Given the description of an element on the screen output the (x, y) to click on. 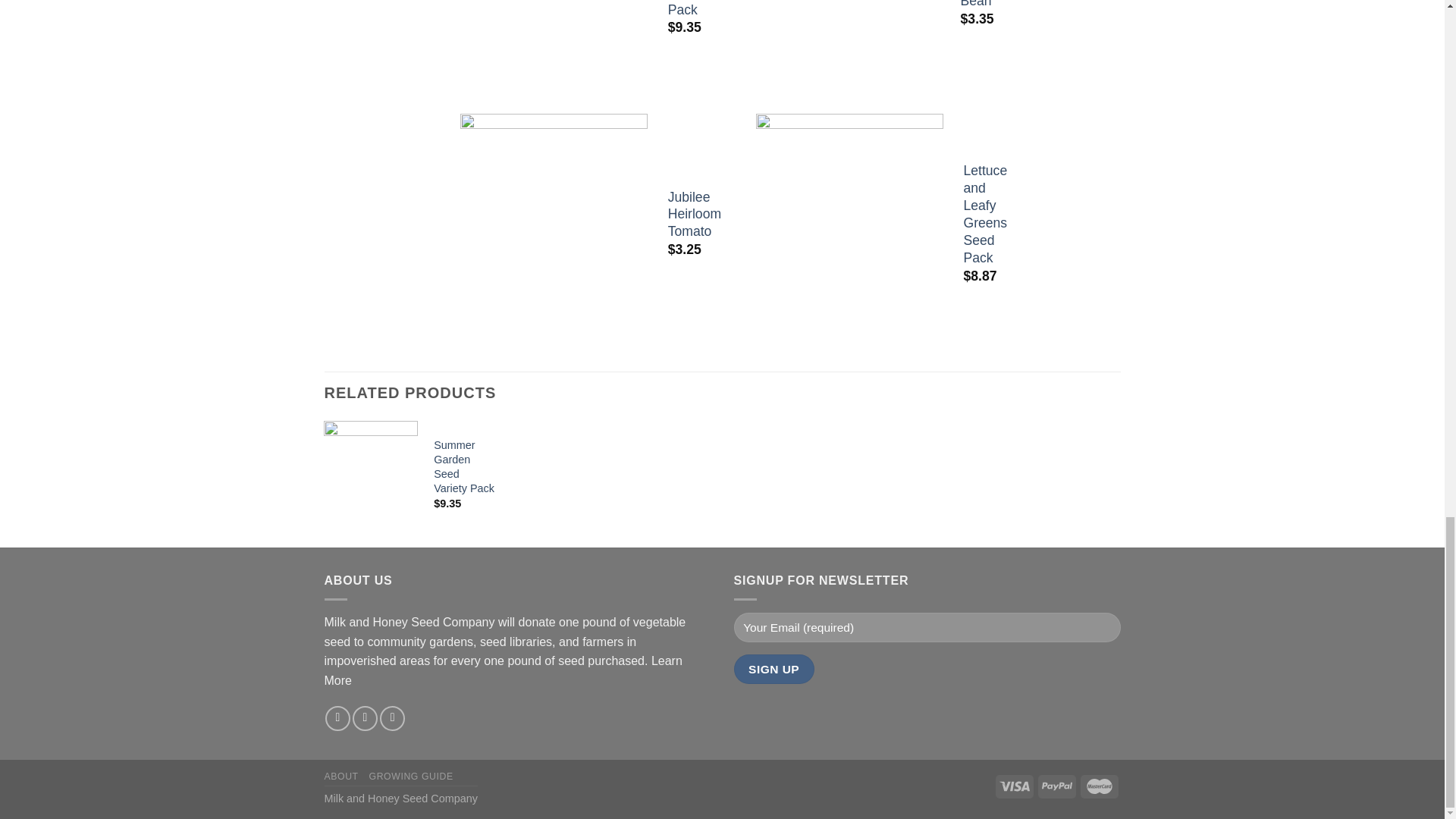
Follow on Instagram (364, 718)
Follow on Facebook (337, 718)
Sign Up (773, 668)
Send us an email (392, 718)
